Given the description of an element on the screen output the (x, y) to click on. 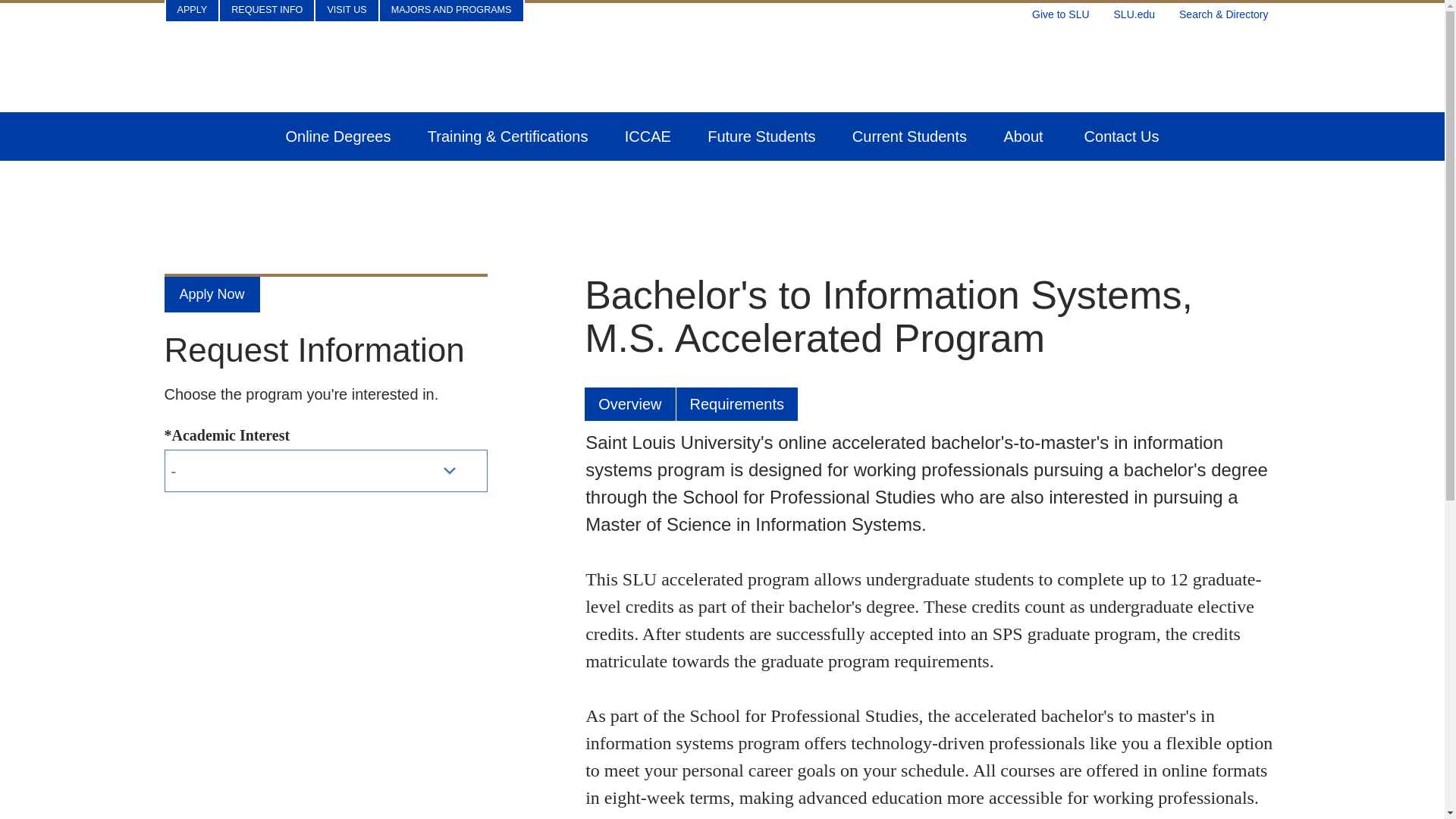
MAJORS AND PROGRAMS (451, 10)
SLU.edu home (1133, 10)
About SPS (1024, 135)
Visit SLU (346, 10)
Clickable Search Hourglass Icon (1229, 10)
Give to SLU (1060, 10)
Give to SLU (1060, 10)
VISIT US (346, 10)
Request Information (266, 10)
Contact Us (1121, 135)
